Given the description of an element on the screen output the (x, y) to click on. 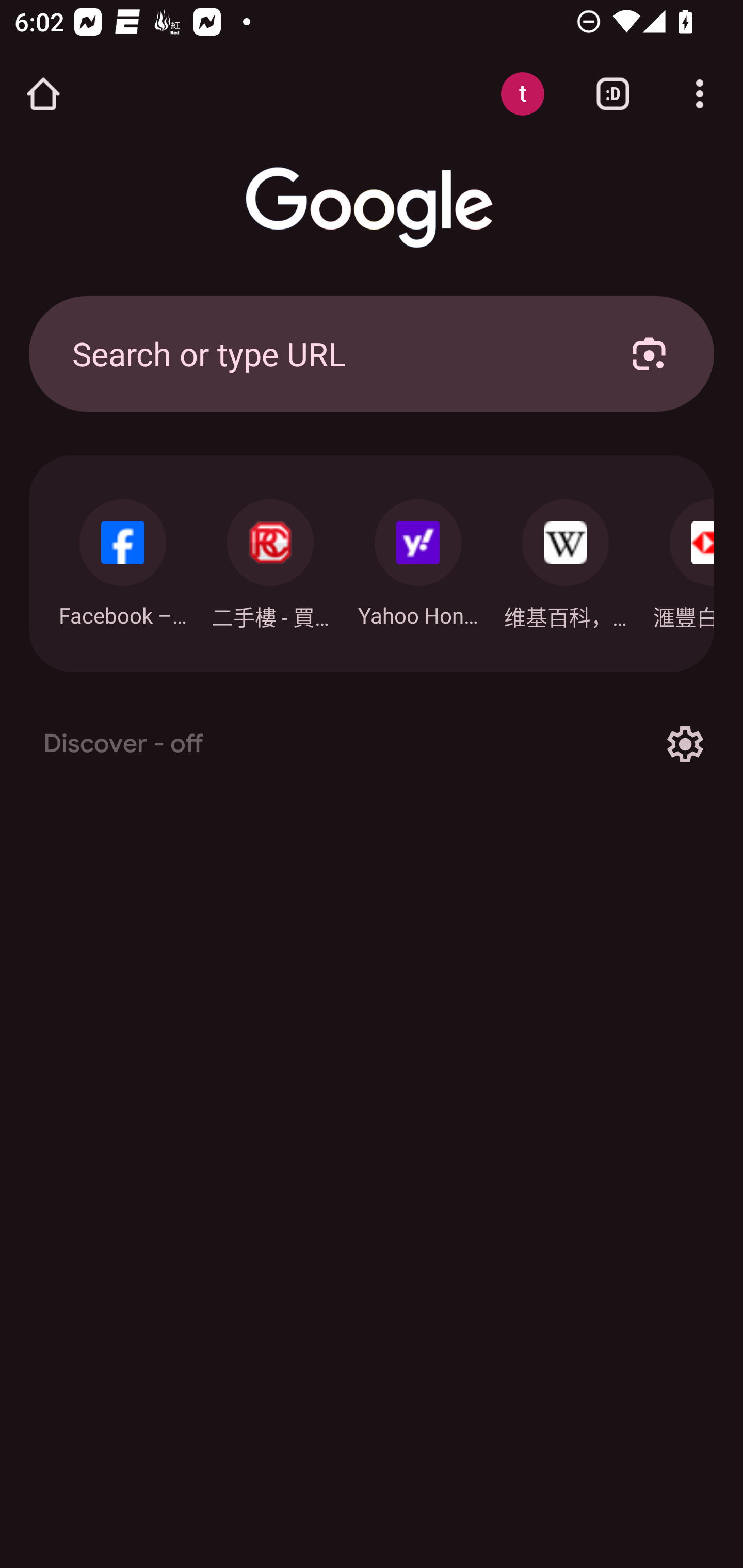
Open the home page (43, 93)
Switch or close tabs (612, 93)
Customize and control Google Chrome (699, 93)
Search or type URL (327, 353)
Search with your camera using Google Lens (648, 353)
Options for Discover (684, 743)
